Given the description of an element on the screen output the (x, y) to click on. 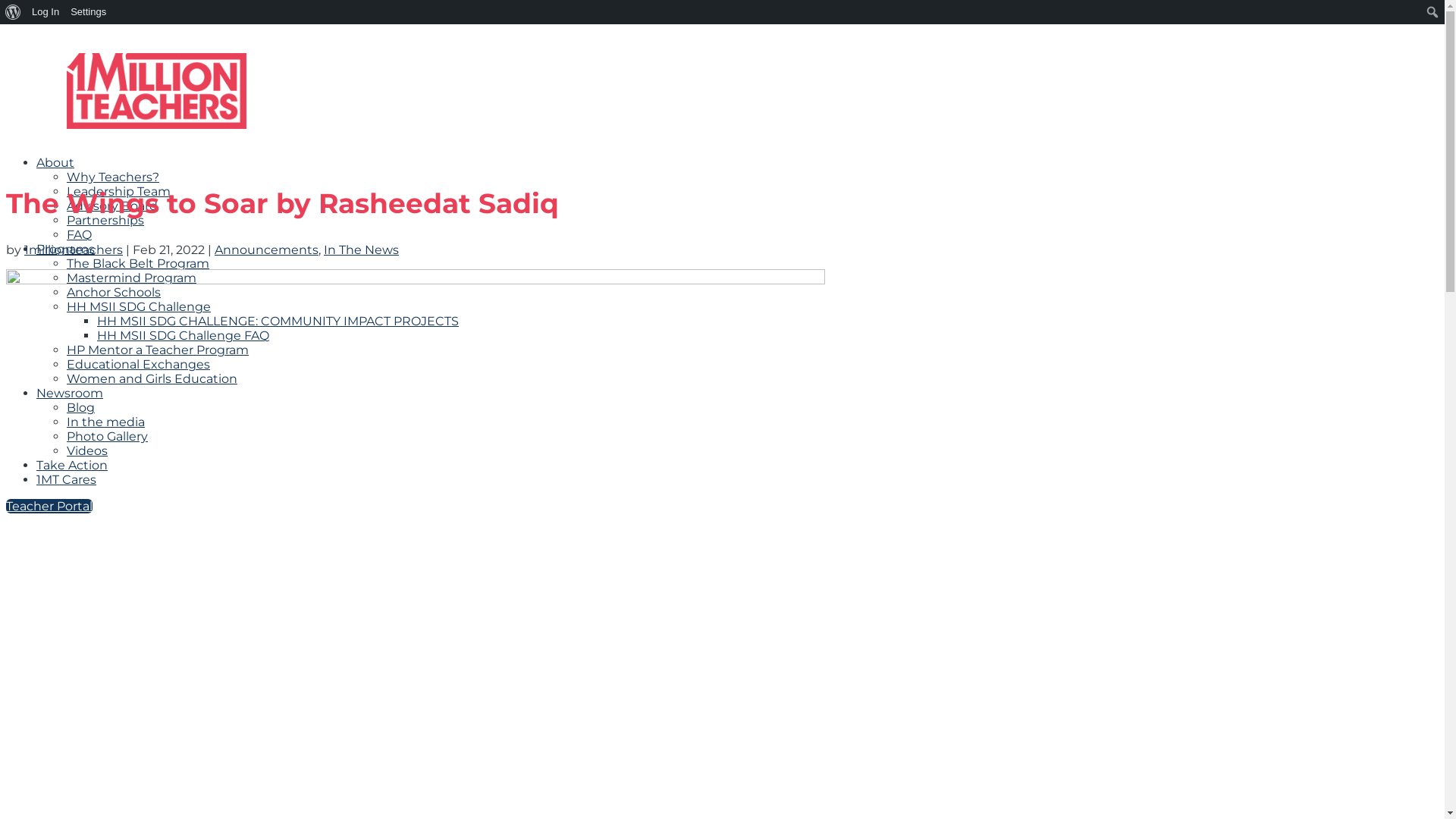
1MT Cares Element type: text (66, 479)
logo Element type: hover (156, 90)
Anchor Schools Element type: text (113, 292)
Settings Element type: text (88, 12)
Log In Element type: text (45, 12)
Announcements Element type: text (266, 249)
1millionteachers Element type: text (73, 249)
Teacher Portal Element type: text (49, 505)
Newsroom Element type: text (69, 392)
HH MSII SDG CHALLENGE: COMMUNITY IMPACT PROJECTS Element type: text (277, 320)
Partnerships Element type: text (105, 220)
Videos Element type: text (86, 450)
Mastermind Program Element type: text (131, 277)
Take Action Element type: text (71, 465)
Why Teachers? Element type: text (112, 176)
Educational Exchanges Element type: text (138, 364)
HH MSII SDG Challenge FAQ Element type: text (183, 335)
About Element type: text (55, 162)
Advisory Board Element type: text (111, 205)
HP Mentor a Teacher Program Element type: text (157, 349)
Search Element type: text (17, 13)
In the media Element type: text (105, 421)
Leadership Team Element type: text (118, 191)
Blog Element type: text (80, 407)
Women and Girls Education Element type: text (151, 378)
Programs Element type: text (65, 248)
FAQ Element type: text (78, 234)
Photo Gallery Element type: text (106, 436)
HH MSII SDG Challenge Element type: text (138, 306)
In The News Element type: text (360, 249)
The Black Belt Program Element type: text (137, 263)
